Given the description of an element on the screen output the (x, y) to click on. 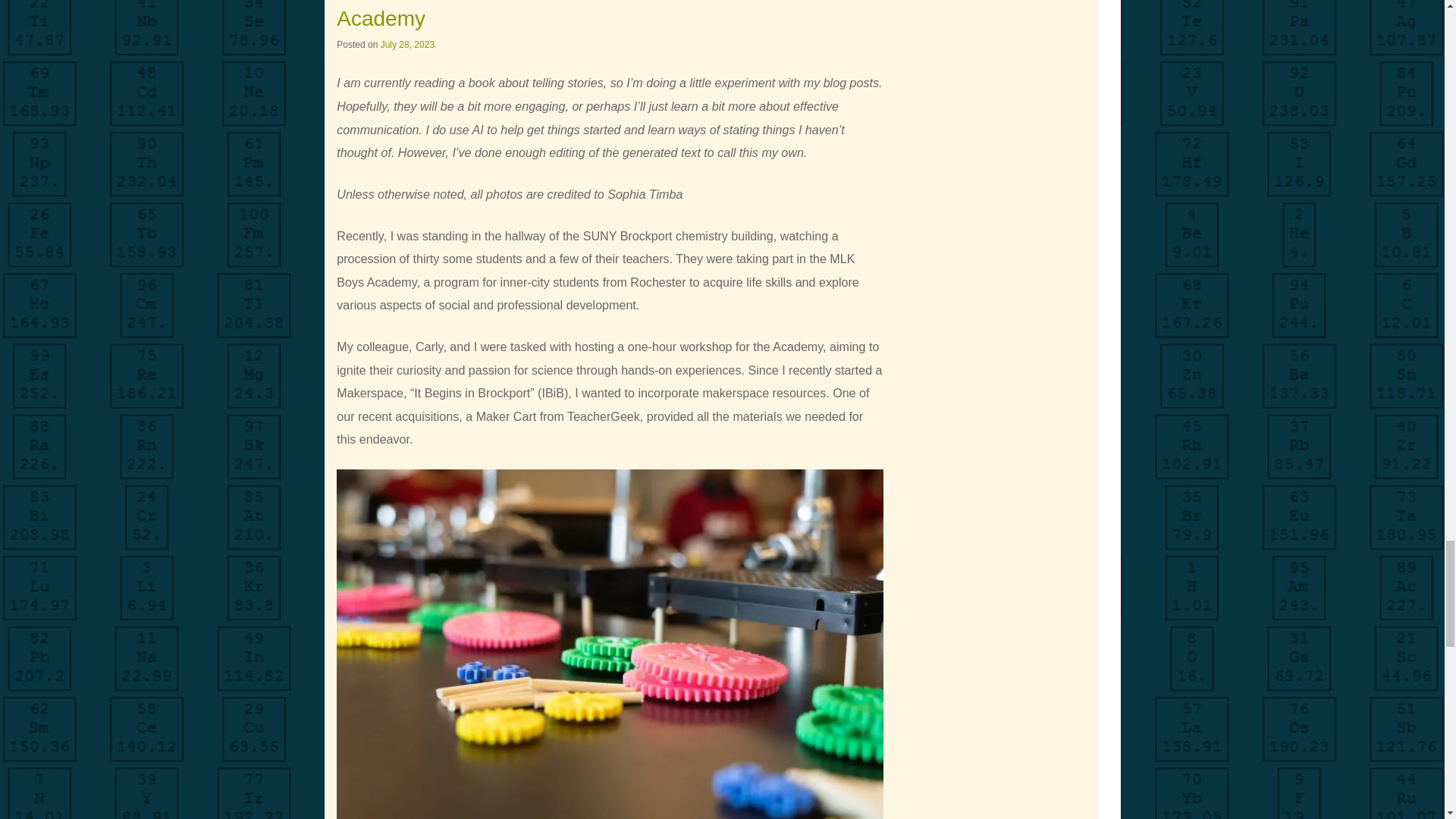
11:12 am (406, 44)
July 28, 2023 (406, 44)
Rekindling the Spark: It Begins with the MLK Boys Academy (572, 15)
